Given the description of an element on the screen output the (x, y) to click on. 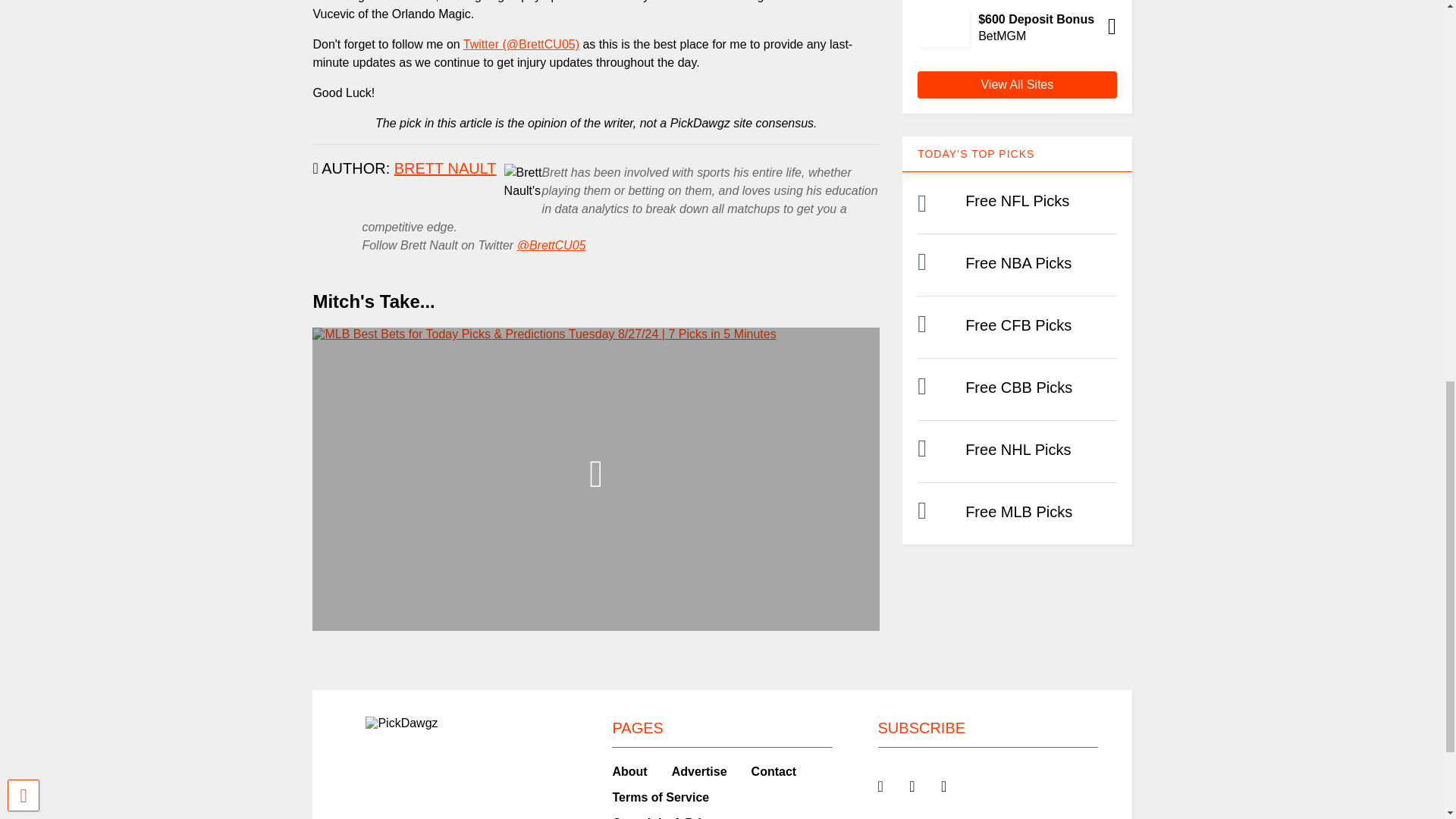
Free NBA Picks (1018, 262)
Free NFL Picks (1016, 200)
Free NHL Picks (1017, 449)
Free MLB Picks (1018, 511)
Free CFB Picks (1018, 324)
Free CBB Picks (1018, 387)
author profile (445, 167)
